Given the description of an element on the screen output the (x, y) to click on. 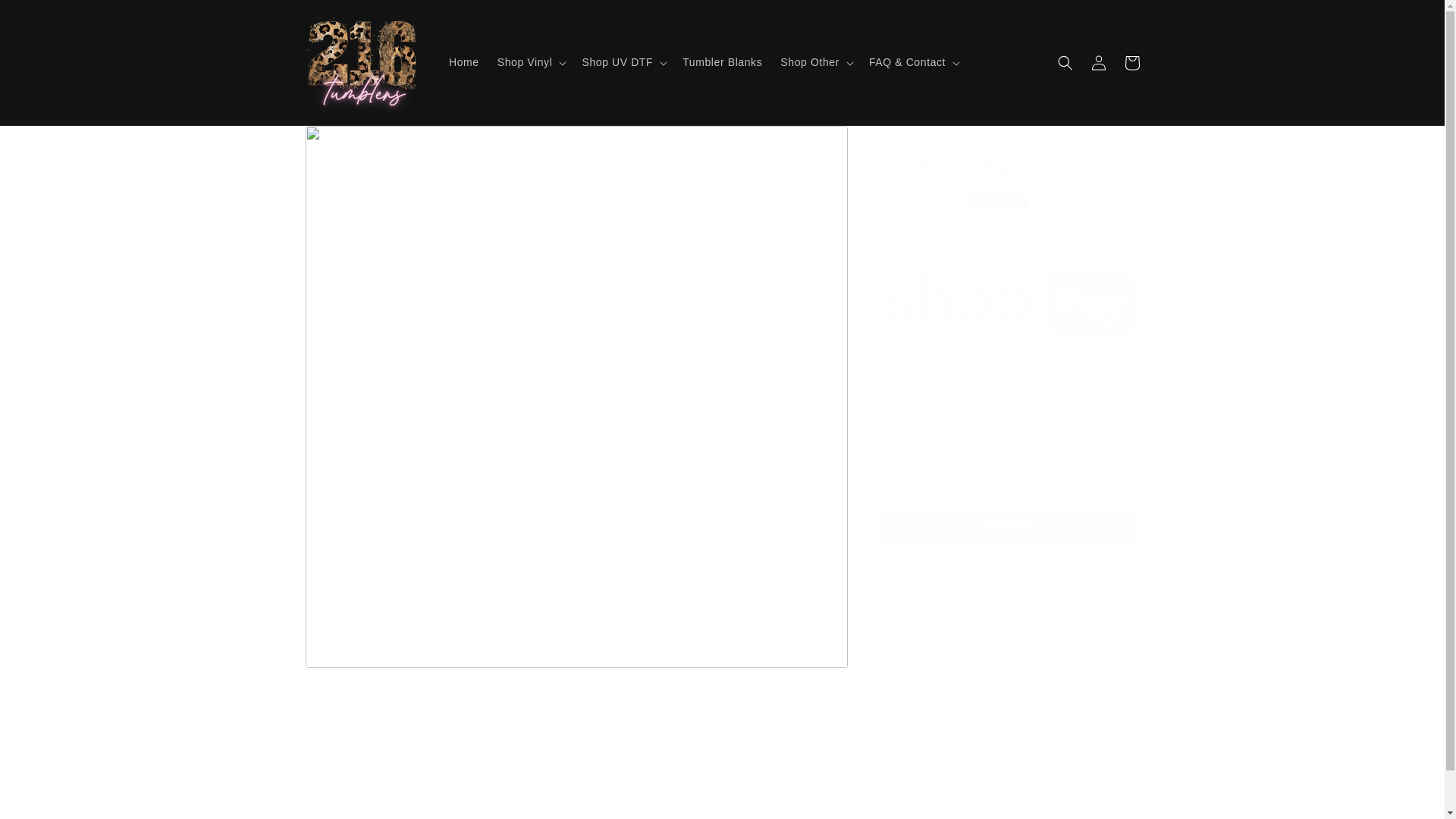
Skip to content (45, 17)
1 (931, 470)
